Given the description of an element on the screen output the (x, y) to click on. 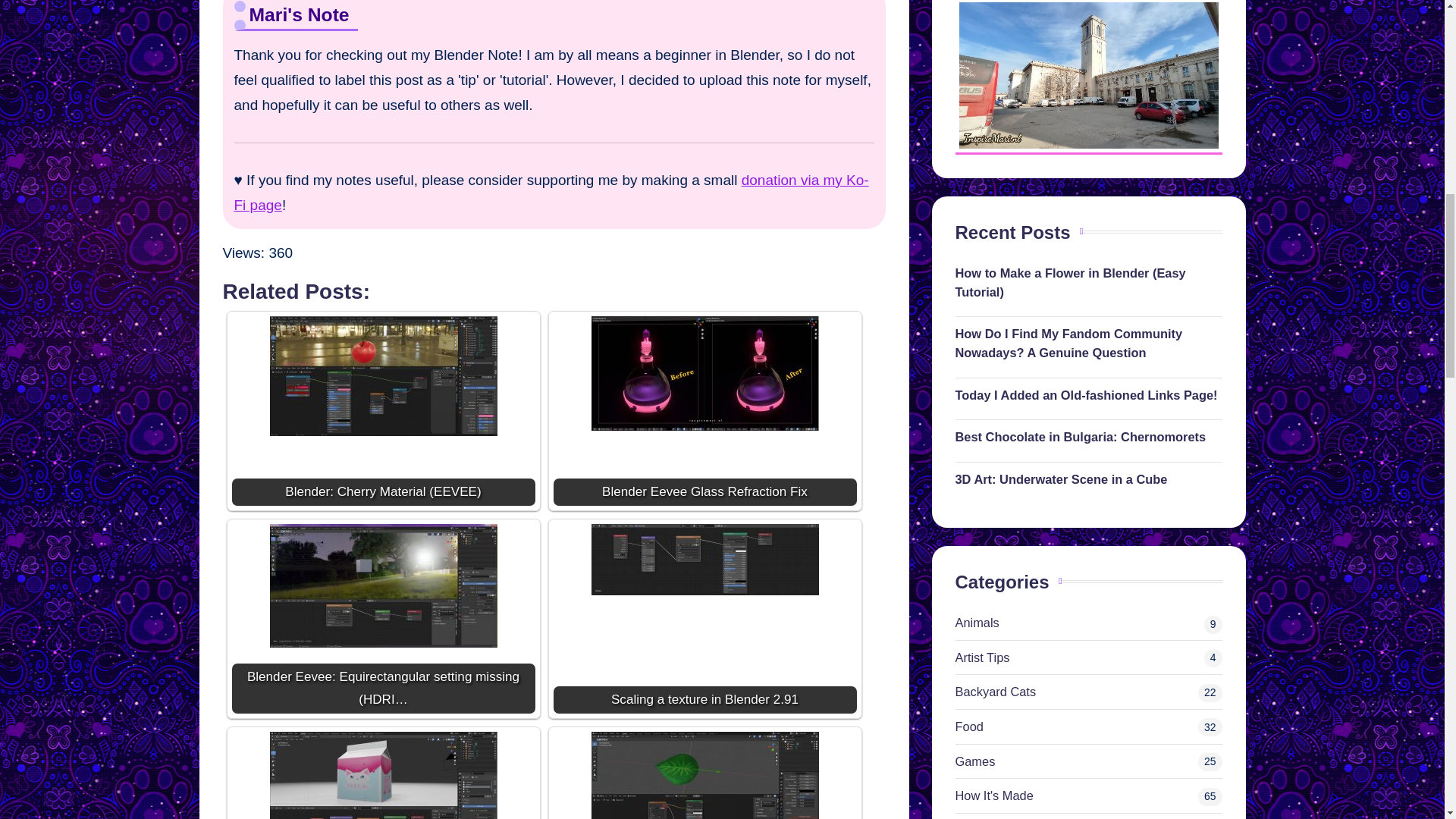
Scaling a texture in Blender 2.91 (704, 558)
Blender: How to add transparent texture image to an object (704, 775)
Today I Added an Old-fashioned Links Page! (1089, 394)
Blender Eevee Glass Refraction Fix (704, 372)
Blender: How to Flip an Image Texture (383, 775)
Scaling a texture in Blender 2.91 (705, 617)
Blender Eevee Glass Refraction Fix (705, 410)
Blender: How to add transparent texture image to an object (705, 775)
donation via my Ko-Fi page (549, 191)
Recent photo in Ruse, Bulgaria (1087, 75)
